Given the description of an element on the screen output the (x, y) to click on. 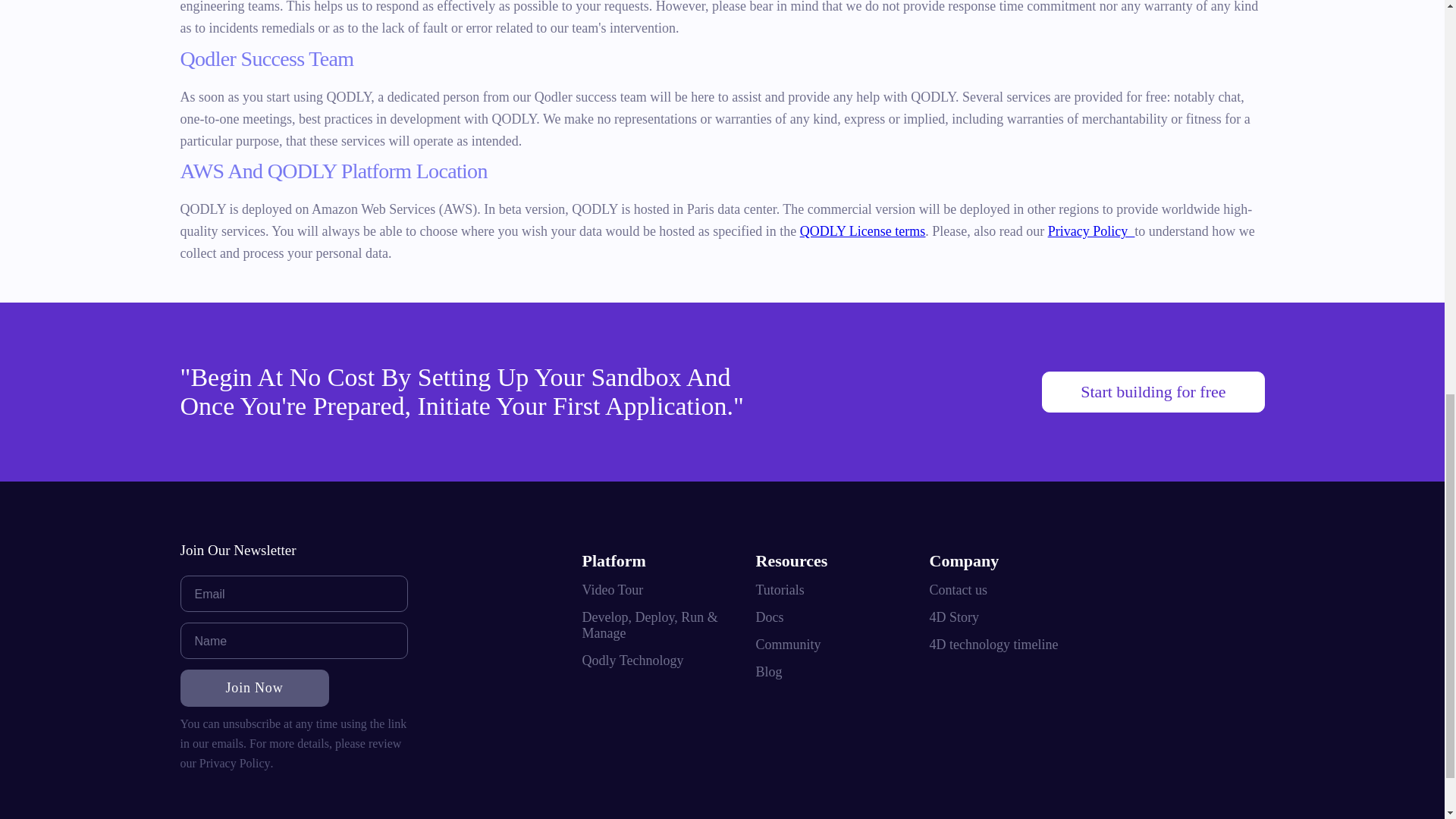
4D technology timeline (994, 644)
Join Now (254, 687)
Get started now (1152, 391)
Platform (614, 560)
Company (964, 560)
Blog (768, 672)
4D Story (954, 617)
Docs (769, 617)
QODLY License terms (861, 231)
Privacy Policy (234, 763)
